Given the description of an element on the screen output the (x, y) to click on. 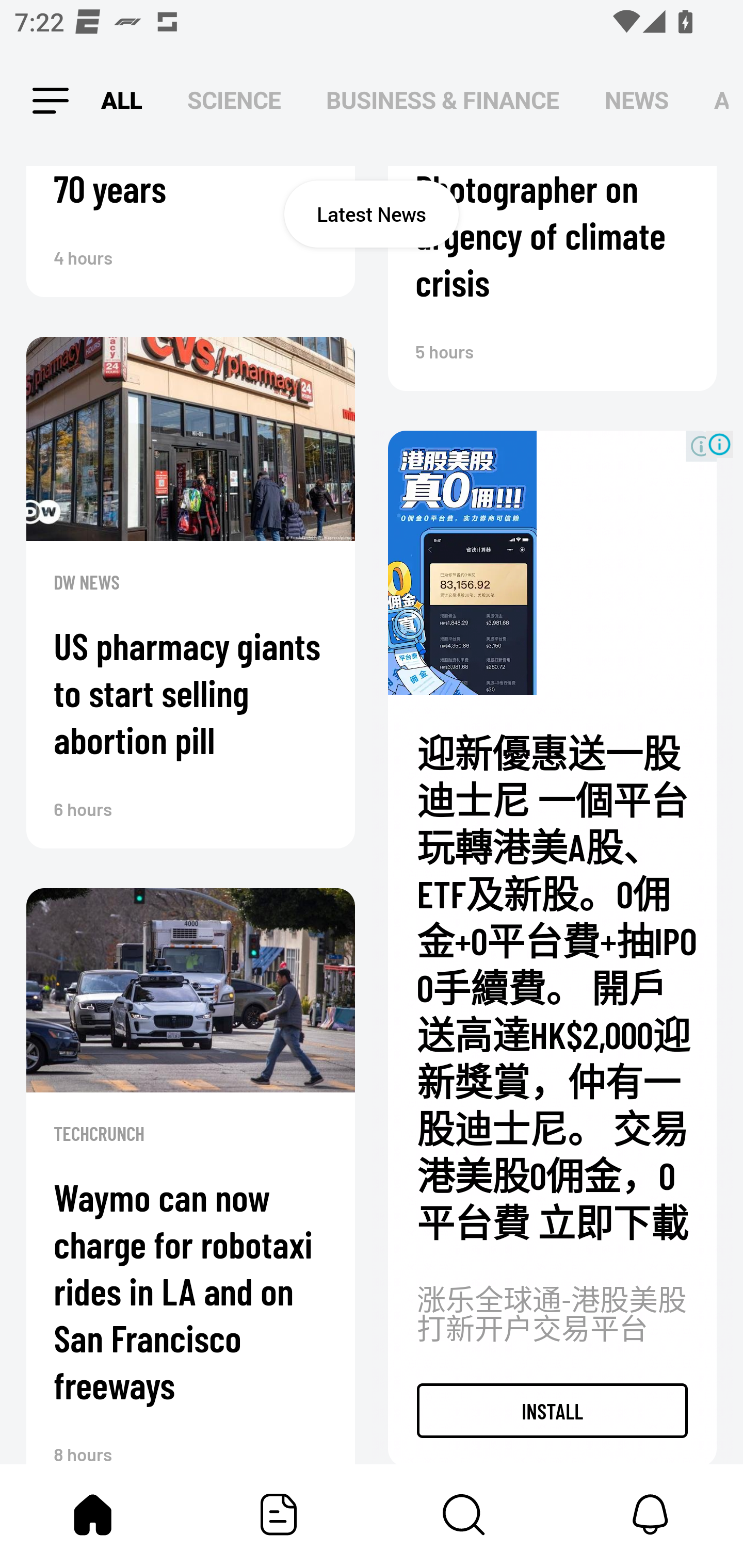
Leading Icon (42, 101)
SCIENCE (233, 100)
BUSINESS & FINANCE (442, 100)
NEWS (636, 100)
Latest News (371, 213)
Ad Choices Icon (719, 444)
Featured (278, 1514)
Content Store (464, 1514)
Notifications (650, 1514)
